Given the description of an element on the screen output the (x, y) to click on. 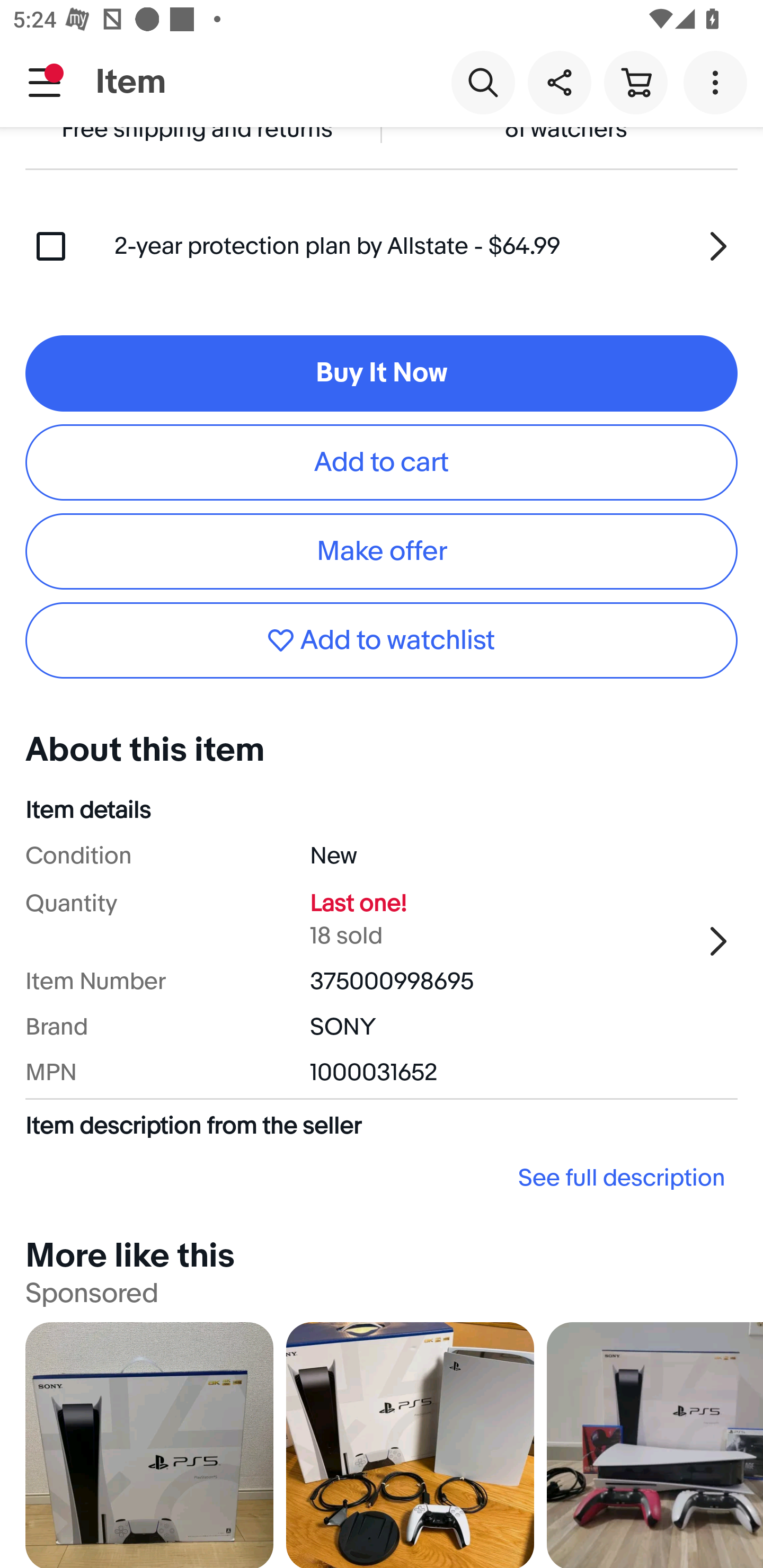
Main navigation, notification is pending, open (44, 82)
Search (482, 81)
Share this item (559, 81)
Cart button shopping cart (635, 81)
More options (718, 81)
2-year protection plan by Allstate - $64.99 (425, 245)
Buy It Now (381, 372)
Add to cart (381, 462)
Make offer (381, 550)
Add to watchlist (381, 640)
See full description (381, 1177)
